Given the description of an element on the screen output the (x, y) to click on. 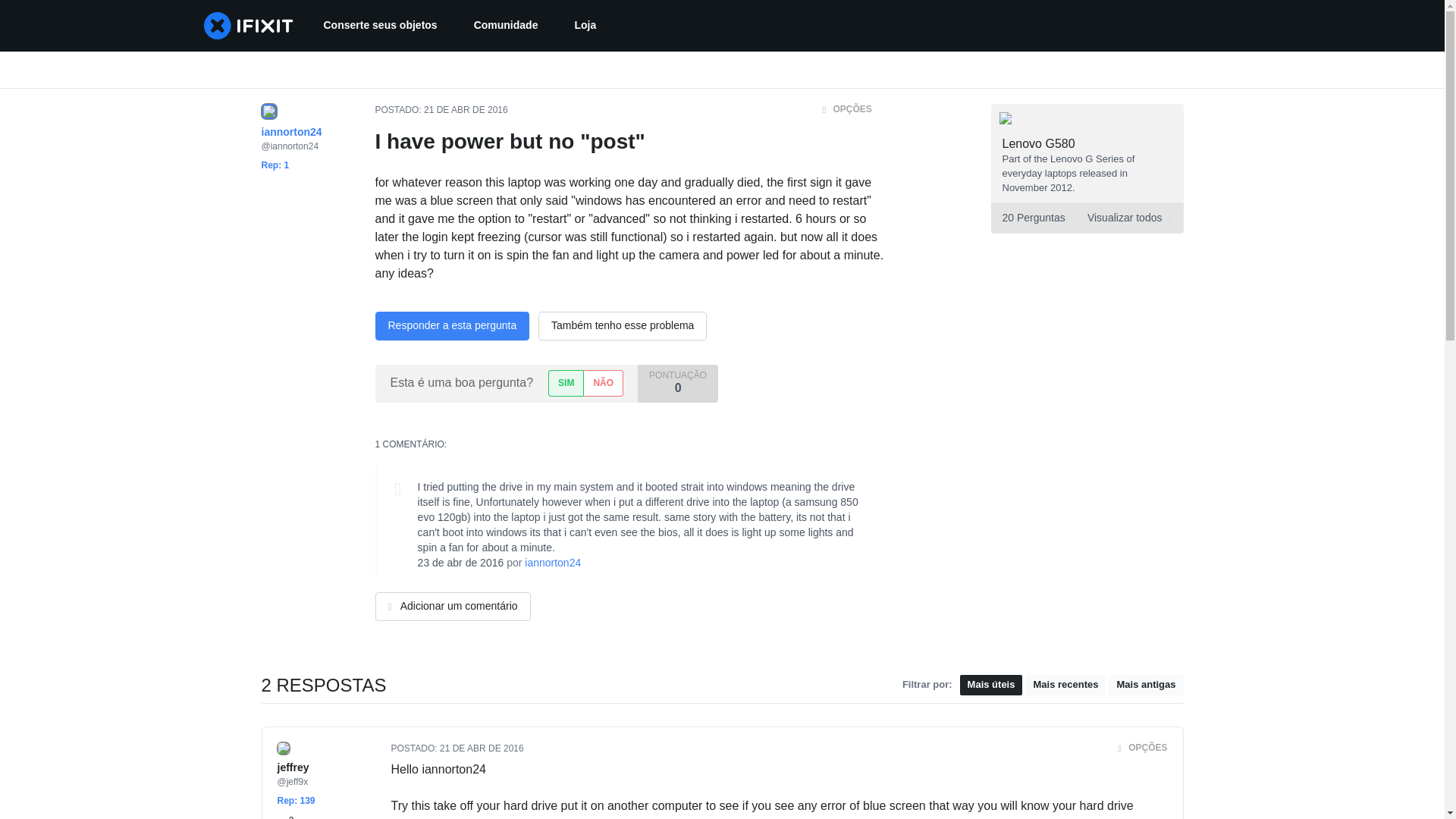
Responder a esta pergunta (451, 326)
2 emblemas de Bronze (286, 816)
Thu, 21 Apr 2016 19:32:41 -0700 (481, 747)
Sat, 23 Apr 2016 18:41:24 -0700 (460, 562)
Comunidade (505, 25)
2 (1086, 217)
Mais recentes (286, 816)
SIM (1065, 684)
Lenovo G580 (565, 383)
